Given the description of an element on the screen output the (x, y) to click on. 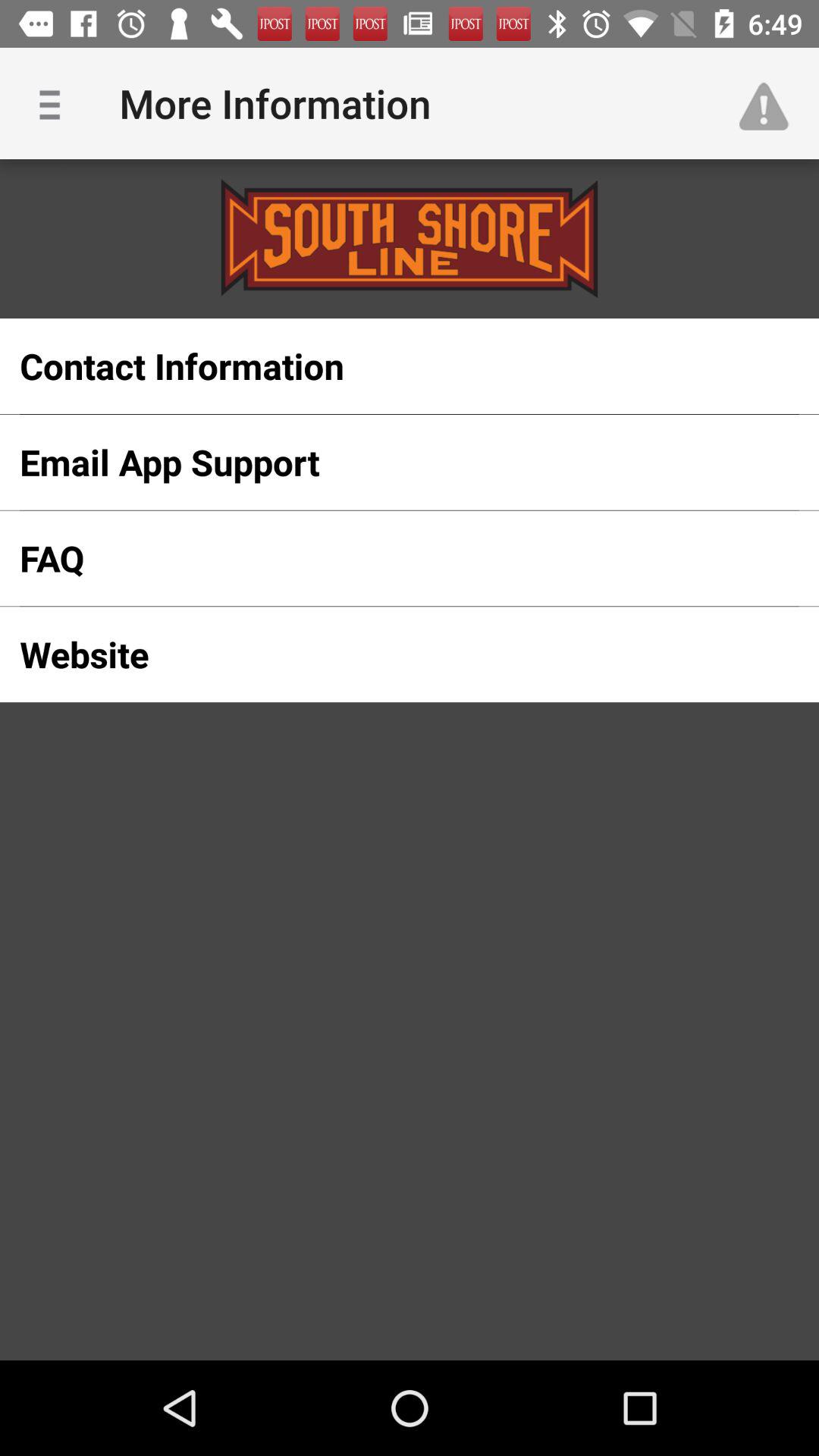
select the item above the email app support icon (385, 366)
